Given the description of an element on the screen output the (x, y) to click on. 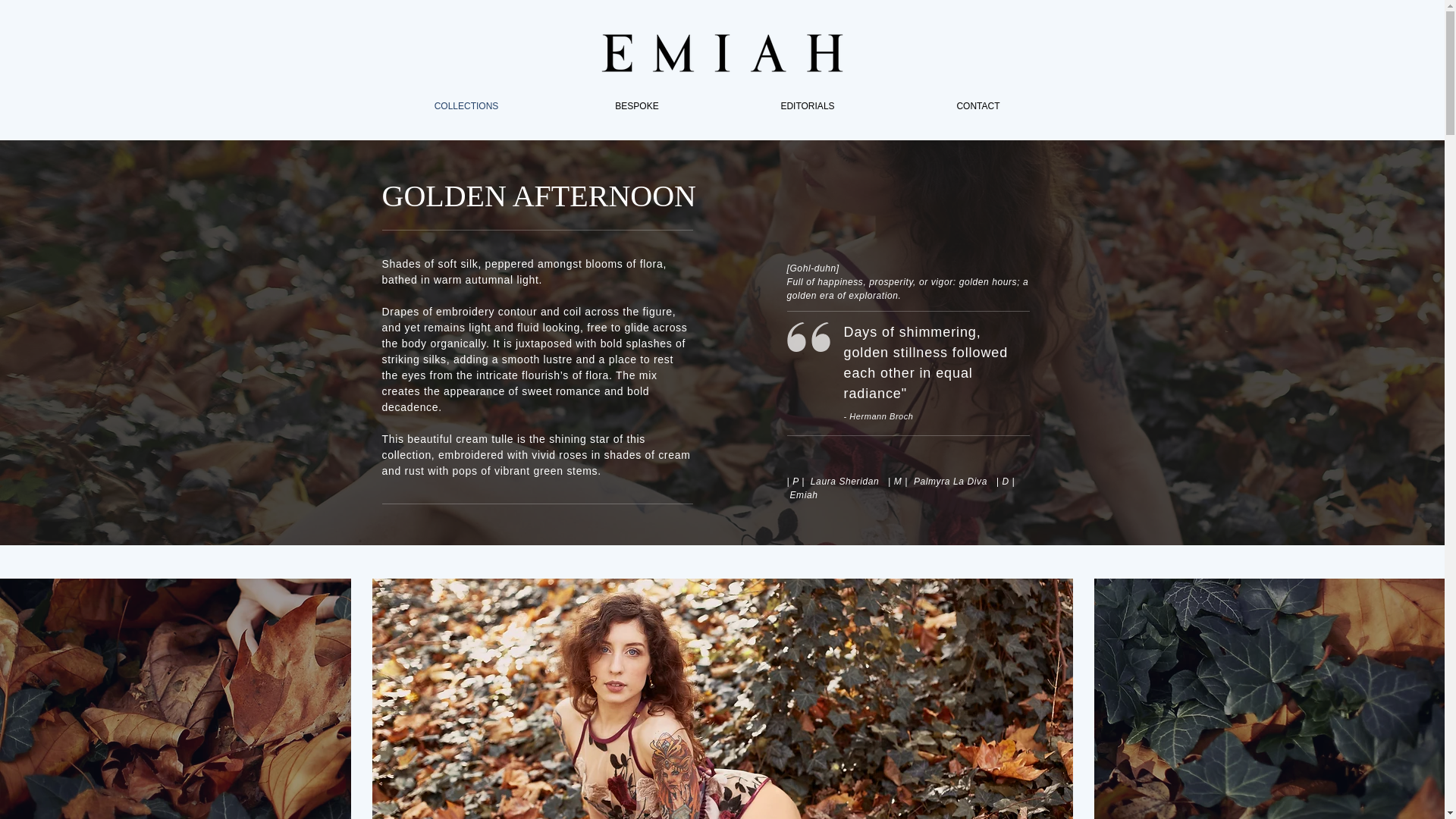
COLLECTIONS (465, 106)
EDITORIALS (807, 106)
BESPOKE (636, 106)
EB022.png (721, 53)
CONTACT (978, 106)
